Given the description of an element on the screen output the (x, y) to click on. 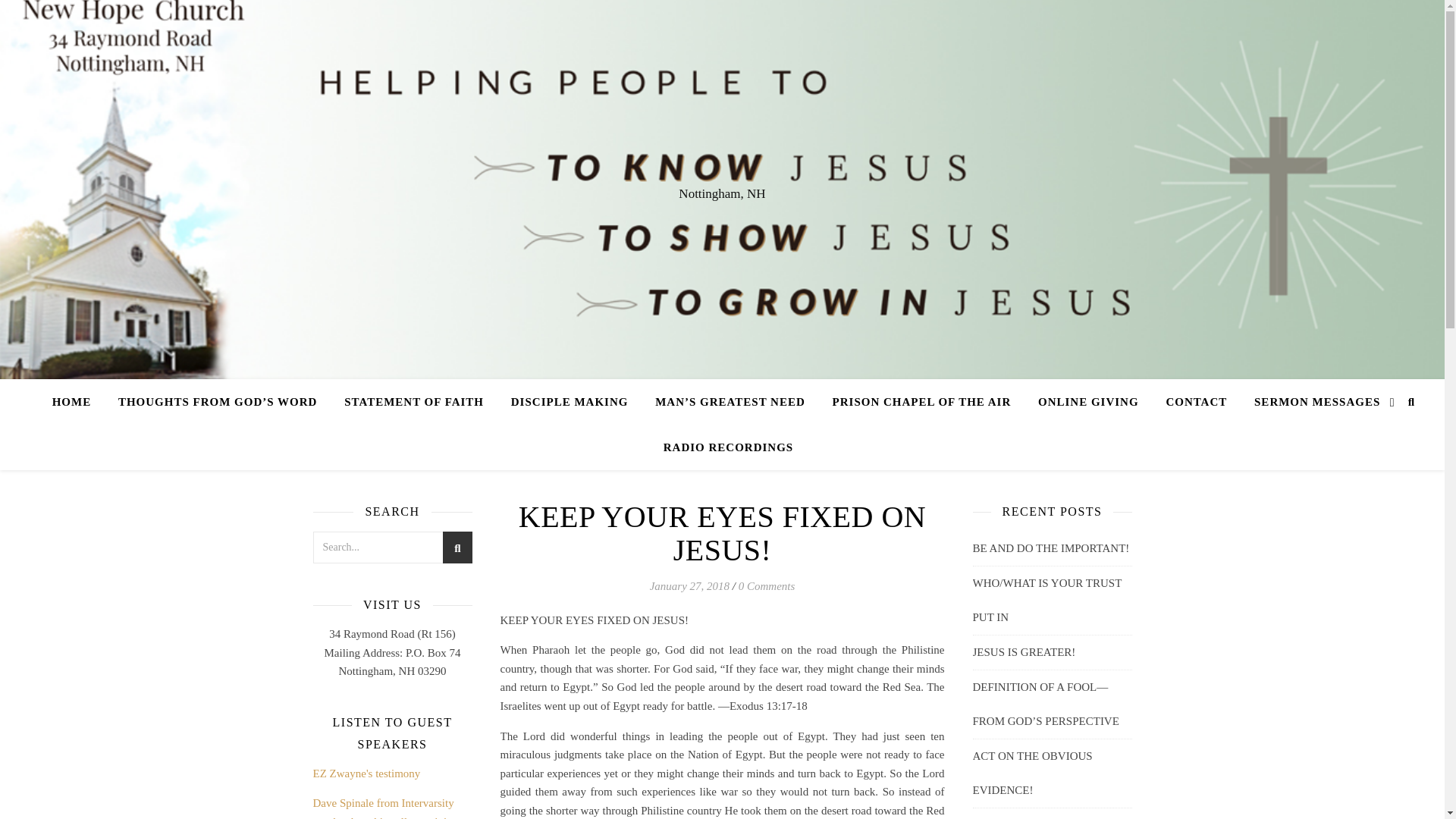
SERMON MESSAGES (1316, 402)
CONTACT (1196, 402)
To show and know Jesus (729, 402)
DISCIPLE MAKING (569, 402)
0 Comments (766, 585)
PRISON CHAPEL OF THE AIR (922, 402)
EZ Zwayne's testimony (366, 773)
HOME (77, 402)
JESUS IS GREATER! (1023, 652)
RADIO RECORDINGS (721, 447)
STATEMENT OF FAITH (413, 402)
ONLINE GIVING (1088, 402)
BE AND DO THE IMPORTANT! (1050, 548)
